Given the description of an element on the screen output the (x, y) to click on. 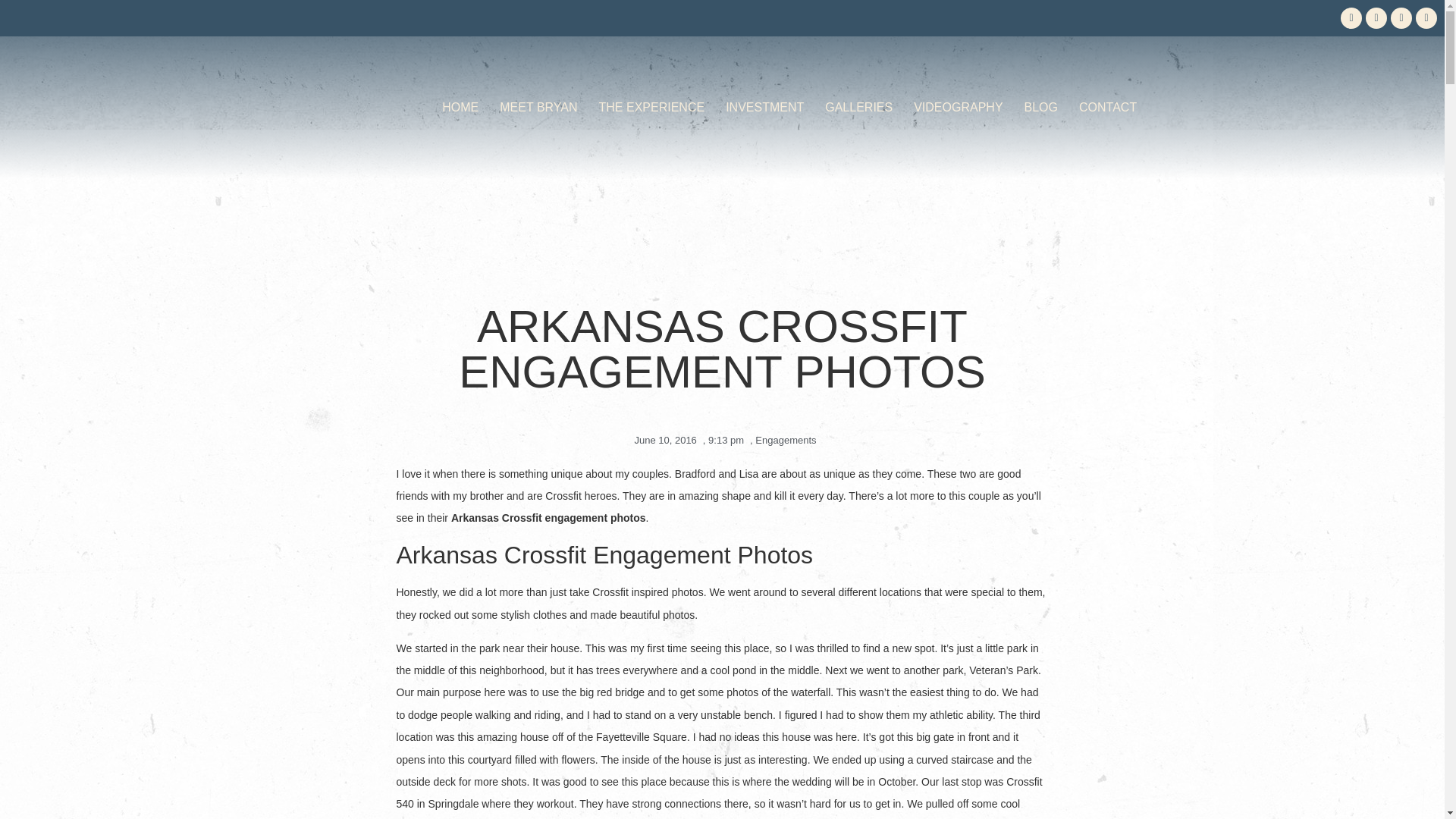
Engagements (785, 439)
INVESTMENT (763, 107)
GALLERIES (857, 107)
Arkansas-Crossfit-Engagement-Photos-001 (721, 193)
BLOG (1040, 107)
CONTACT (1107, 107)
THE EXPERIENCE (652, 107)
HOME (459, 107)
VIDEOGRAPHY (957, 107)
June 10, 2016 (661, 440)
MEET BRYAN (538, 107)
